Given the description of an element on the screen output the (x, y) to click on. 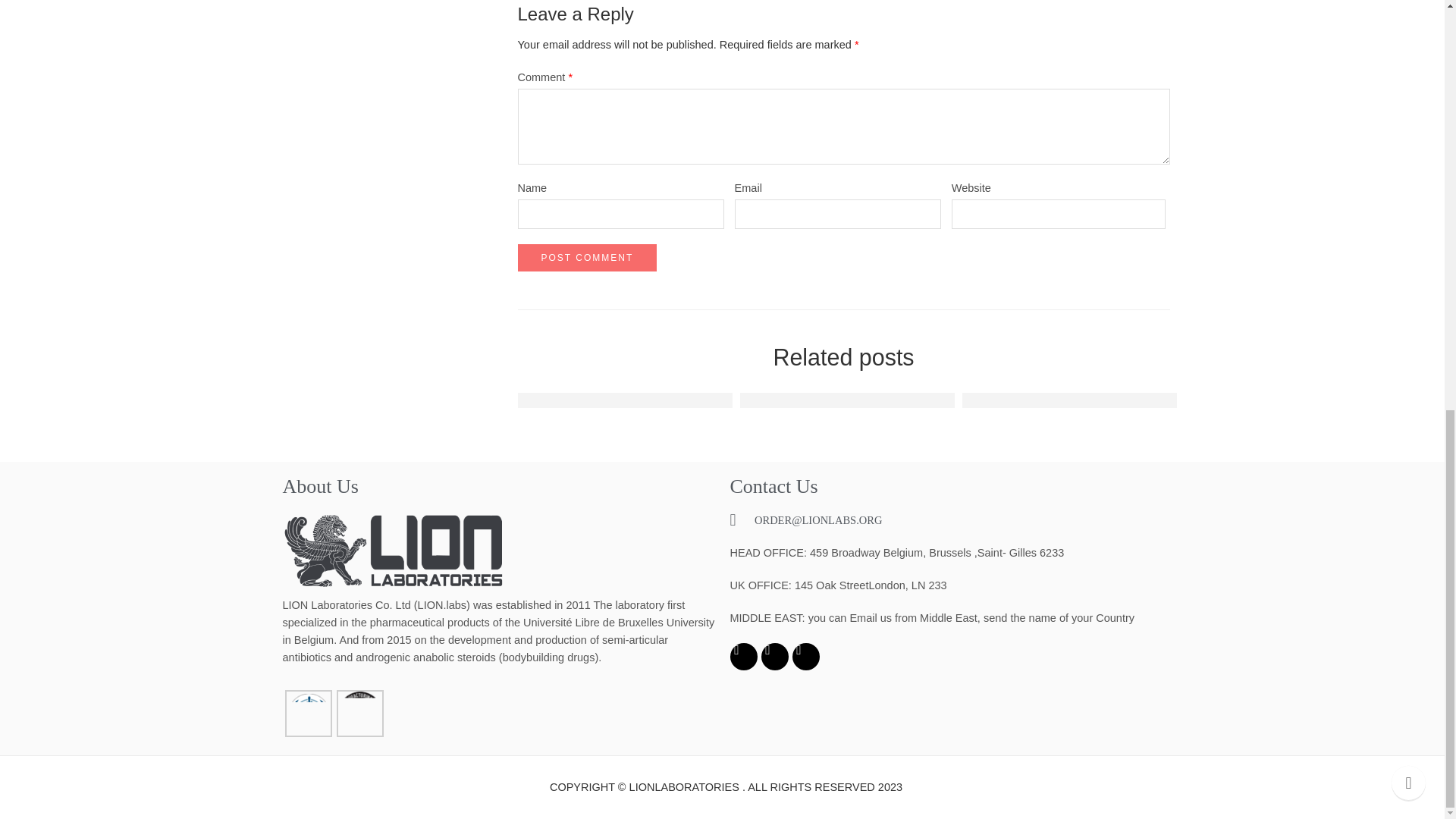
e4dc8faedd01599c5b4826f3d28a2de7 (629, 400)
Post Comment (586, 257)
Post Comment (586, 257)
Turinabol et alcool, medicament clenbuterol rhume (1109, 400)
e4dc8faedd01599c5b4826f3d28a2de7 (852, 400)
